Given the description of an element on the screen output the (x, y) to click on. 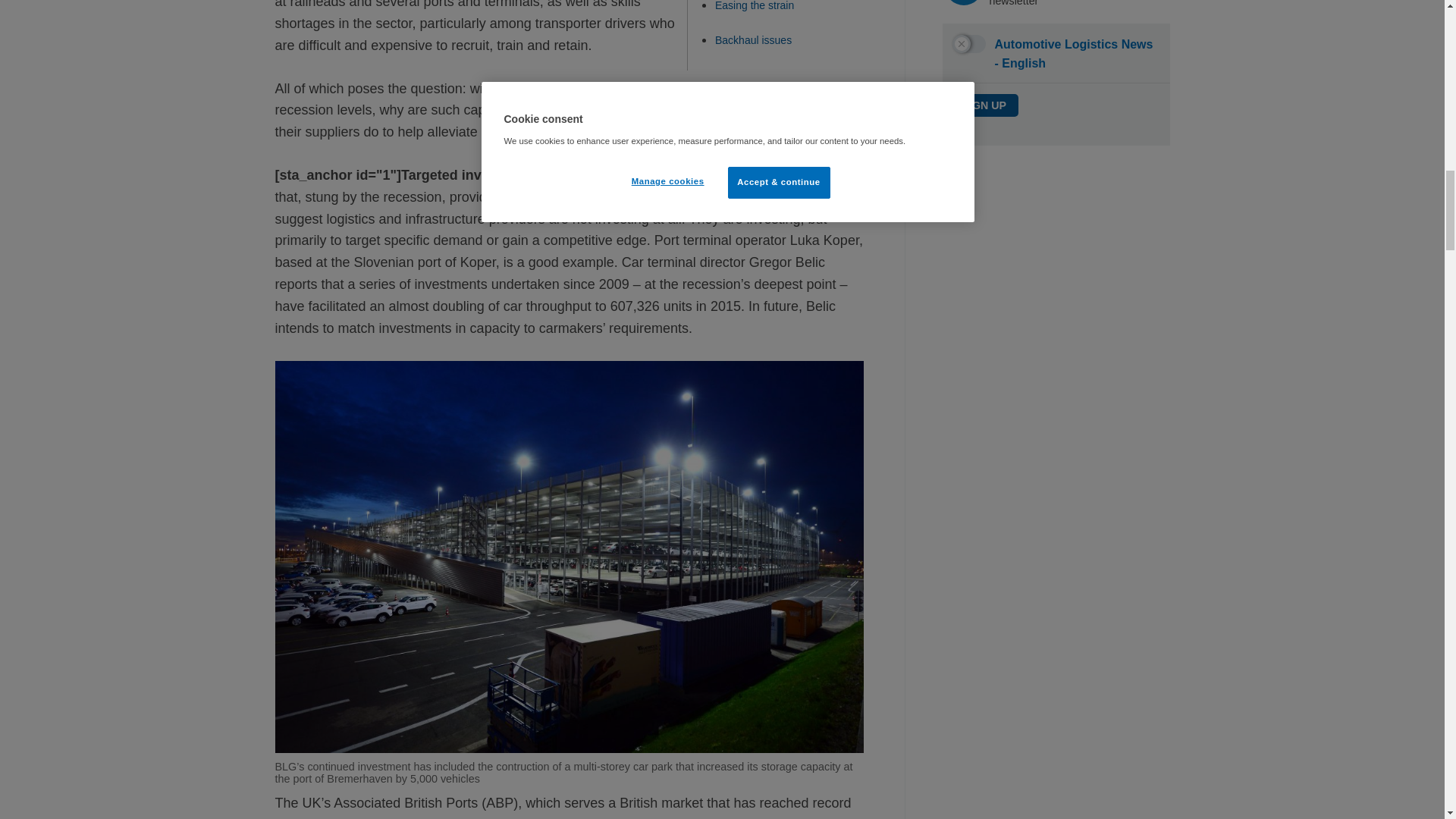
Backhaul issues (753, 38)
Easing the strain (753, 6)
3rd party ad content (1055, 276)
